Given the description of an element on the screen output the (x, y) to click on. 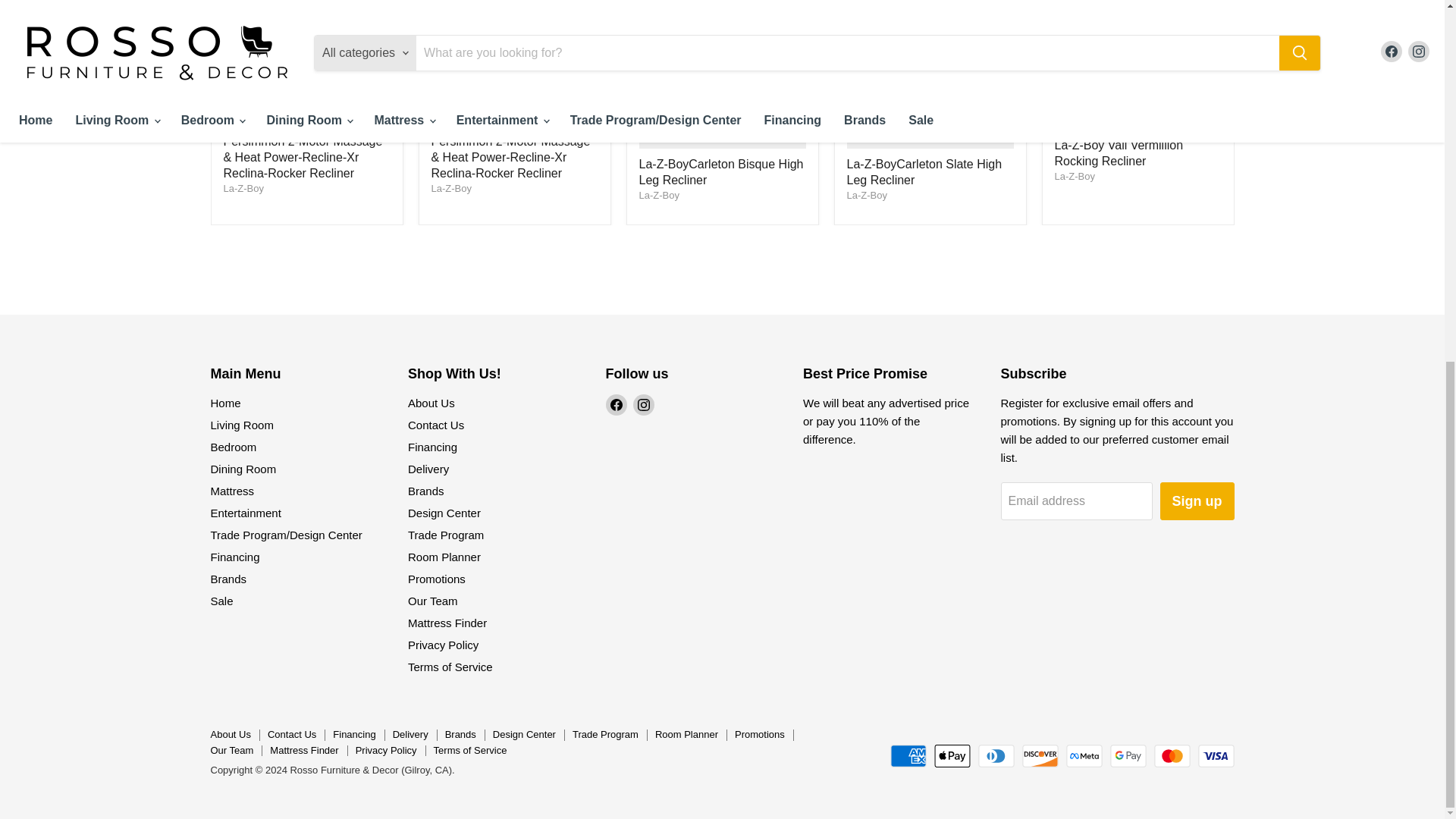
La-Z-Boy (242, 188)
La-Z-Boy (865, 194)
Instagram (642, 404)
Diners Club (996, 755)
American Express (907, 755)
La-Z-Boy (450, 188)
La-Z-Boy (1074, 175)
La-Z-Boy (658, 194)
Facebook (615, 404)
Discover (1040, 755)
